Given the description of an element on the screen output the (x, y) to click on. 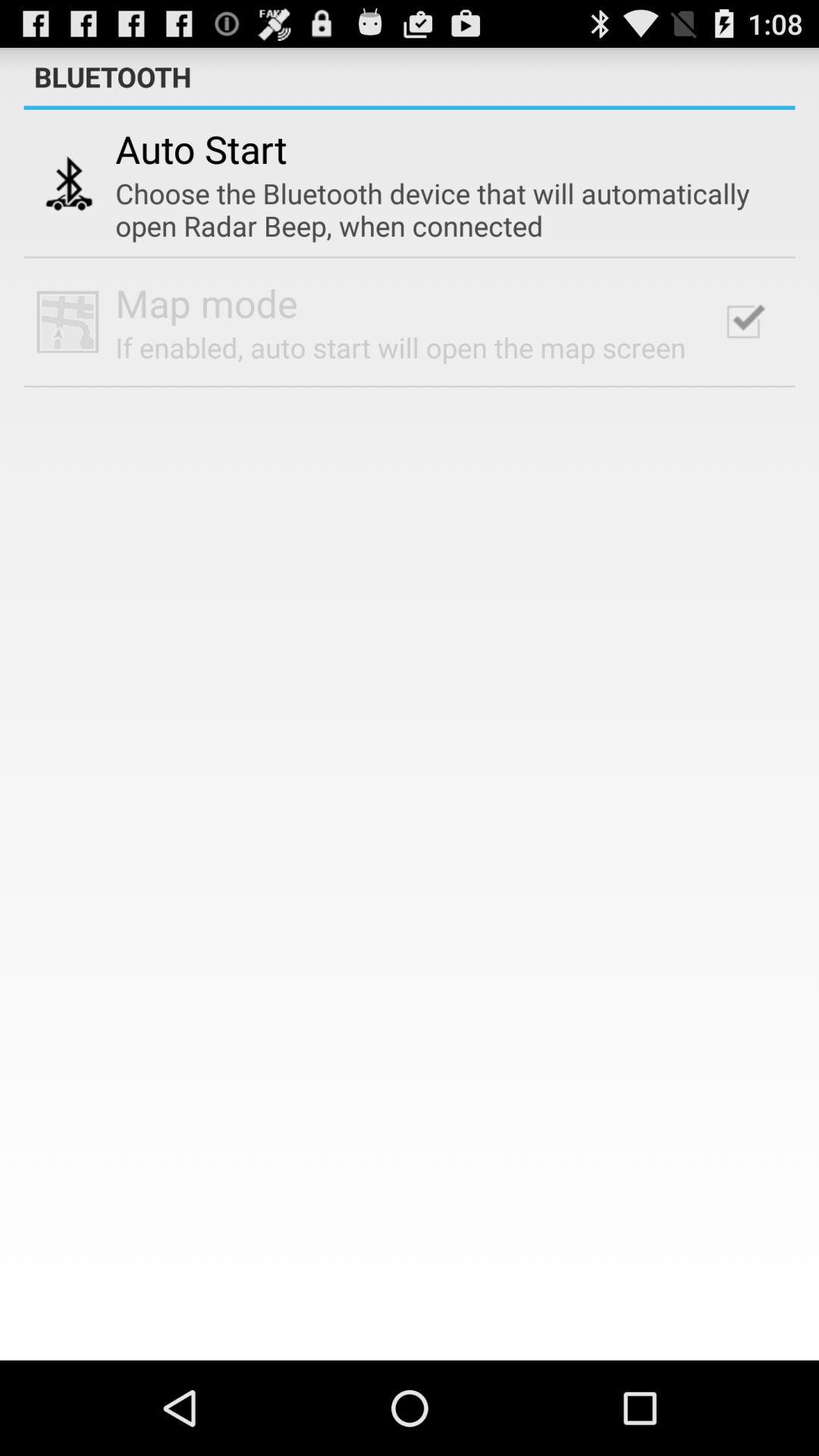
jump until choose the bluetooth app (439, 209)
